Given the description of an element on the screen output the (x, y) to click on. 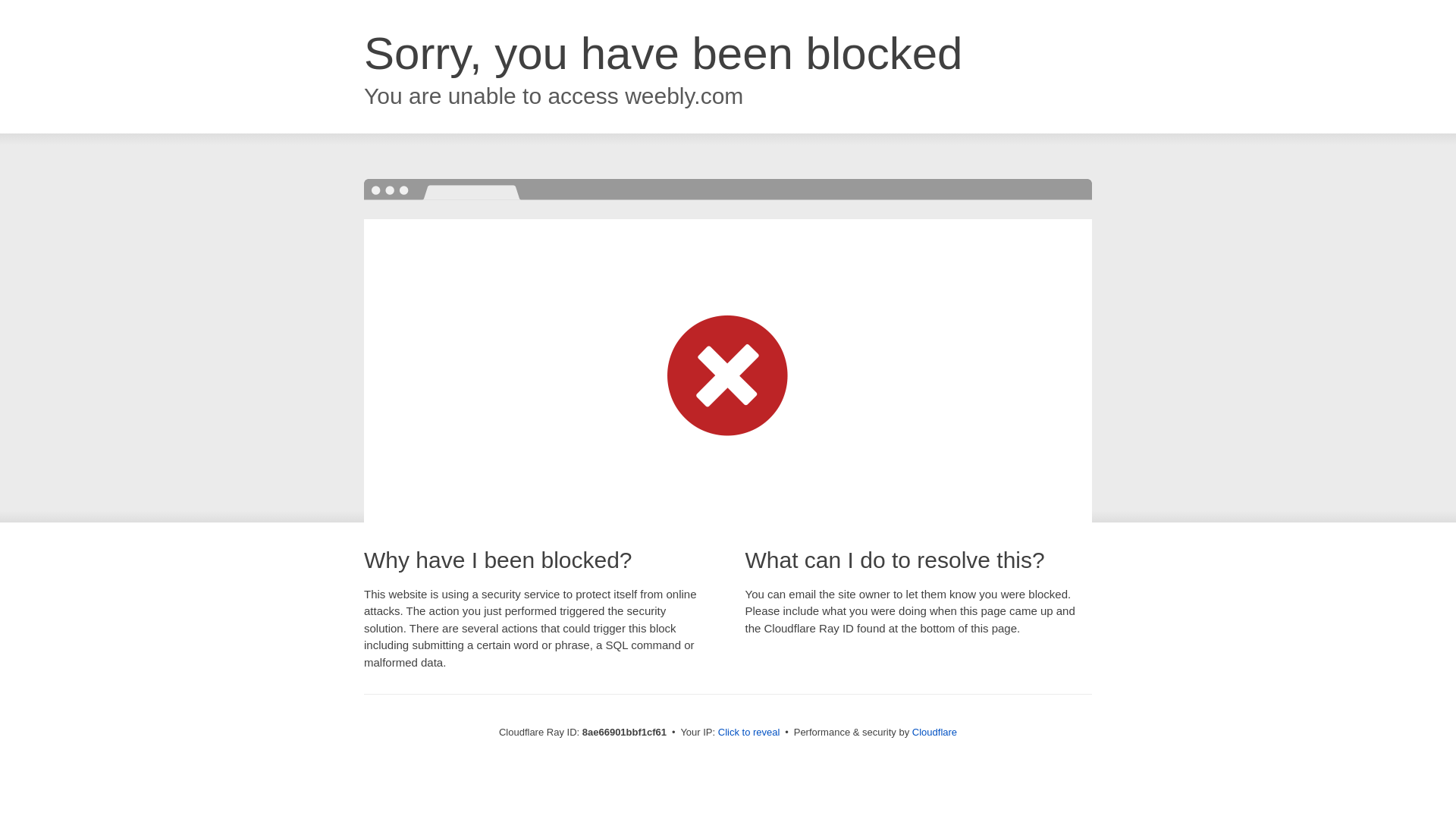
Click to reveal (748, 732)
Cloudflare (934, 731)
